Given the description of an element on the screen output the (x, y) to click on. 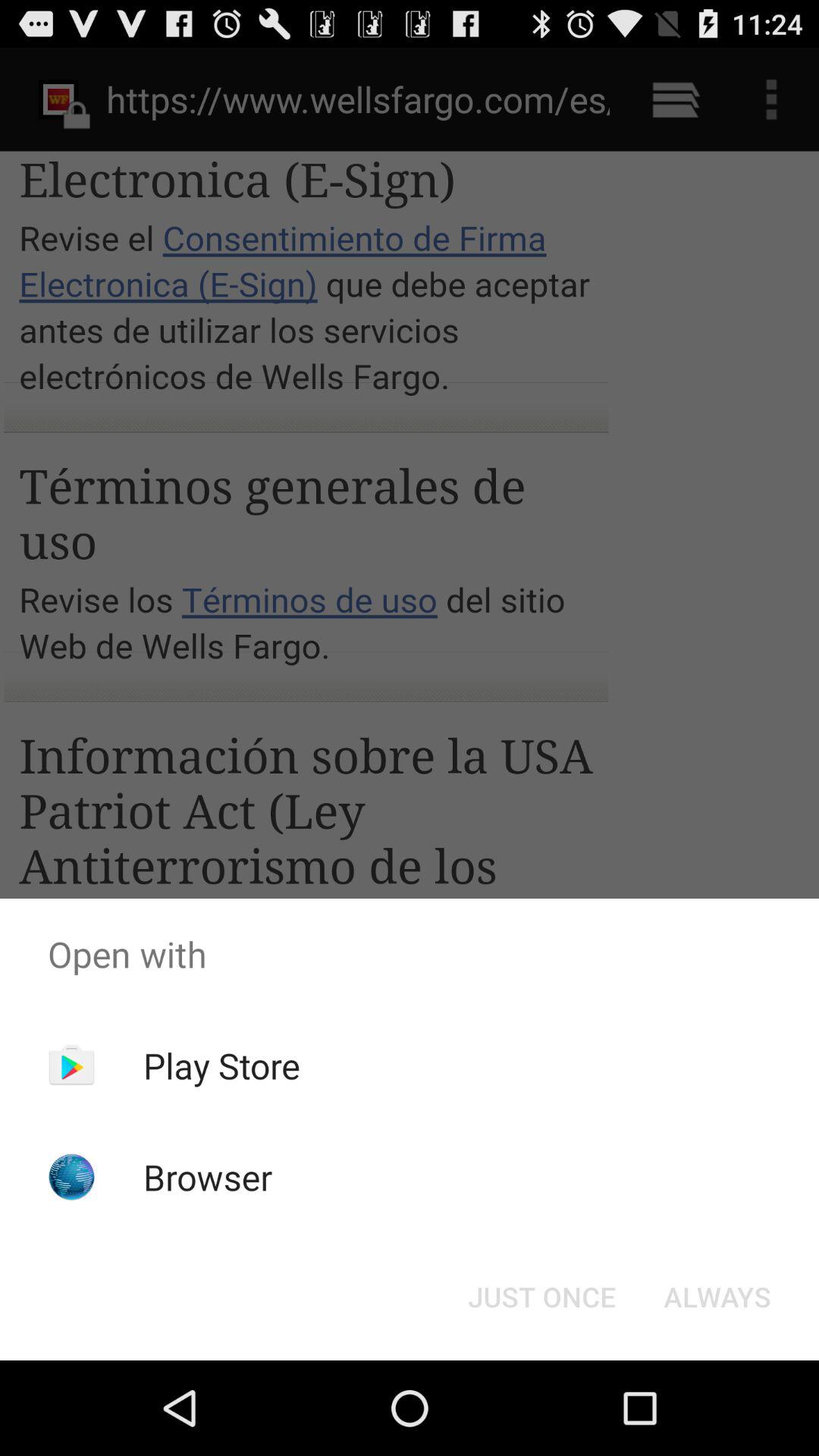
choose button to the right of just once button (717, 1296)
